Given the description of an element on the screen output the (x, y) to click on. 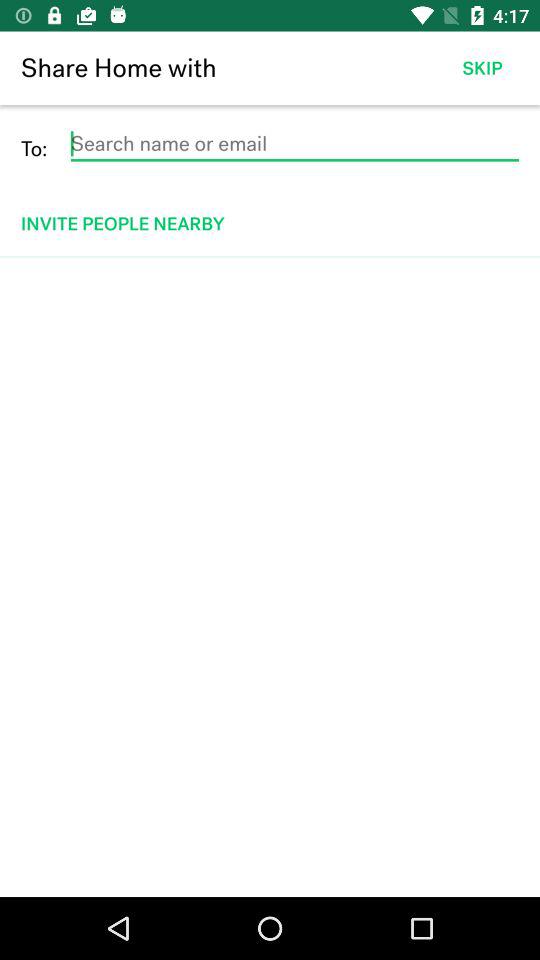
turn on skip at the top right corner (482, 68)
